Given the description of an element on the screen output the (x, y) to click on. 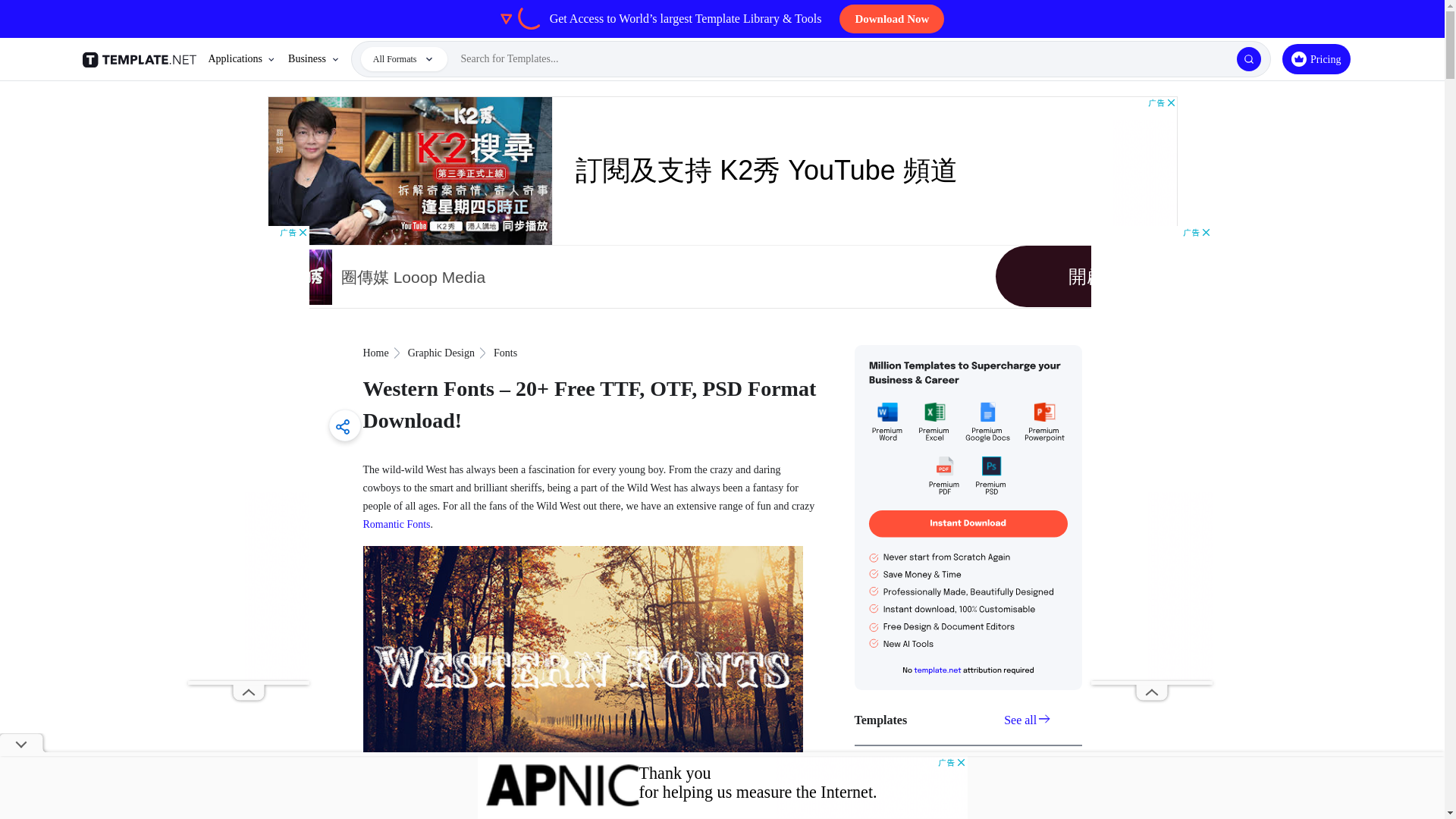
Download Now (891, 18)
Template.net (141, 59)
Pricing (1315, 59)
